Given the description of an element on the screen output the (x, y) to click on. 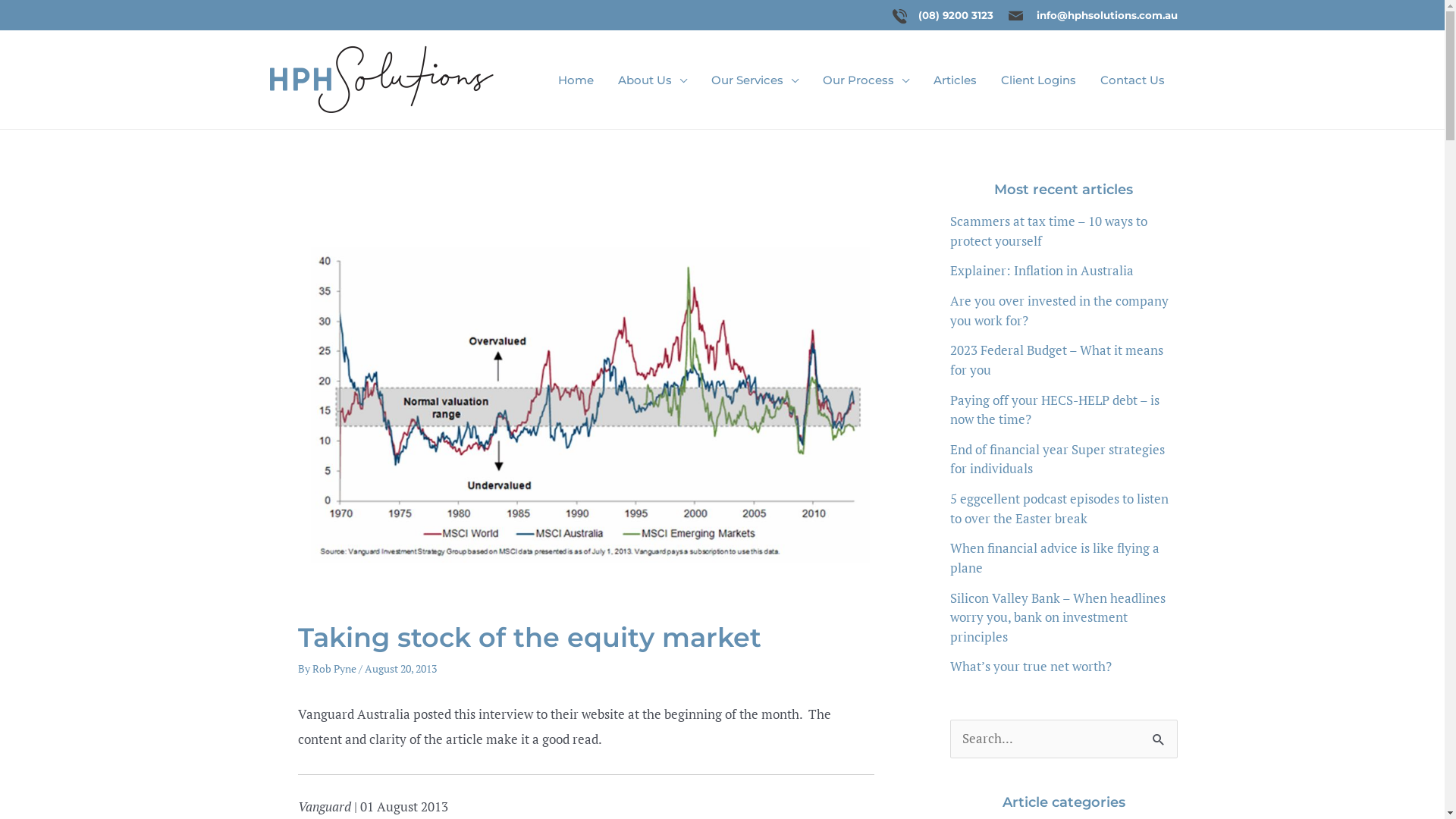
Search Element type: text (1160, 741)
When financial advice is like flying a plane Element type: text (1053, 557)
End of financial year Super strategies for individuals Element type: text (1056, 458)
Contact Us Element type: text (1132, 79)
Home Element type: text (575, 79)
Client Logins Element type: text (1038, 79)
(08) 9200 3123 Element type: text (954, 15)
Explainer: Inflation in Australia Element type: text (1040, 270)
info@hphsolutions.com.au Element type: text (1105, 15)
About Us Element type: text (652, 79)
Articles Element type: text (955, 79)
Are you over invested in the company you work for? Element type: text (1058, 310)
Our Process Element type: text (866, 79)
Rob Pyne Element type: text (335, 668)
Our Services Element type: text (754, 79)
